Given the description of an element on the screen output the (x, y) to click on. 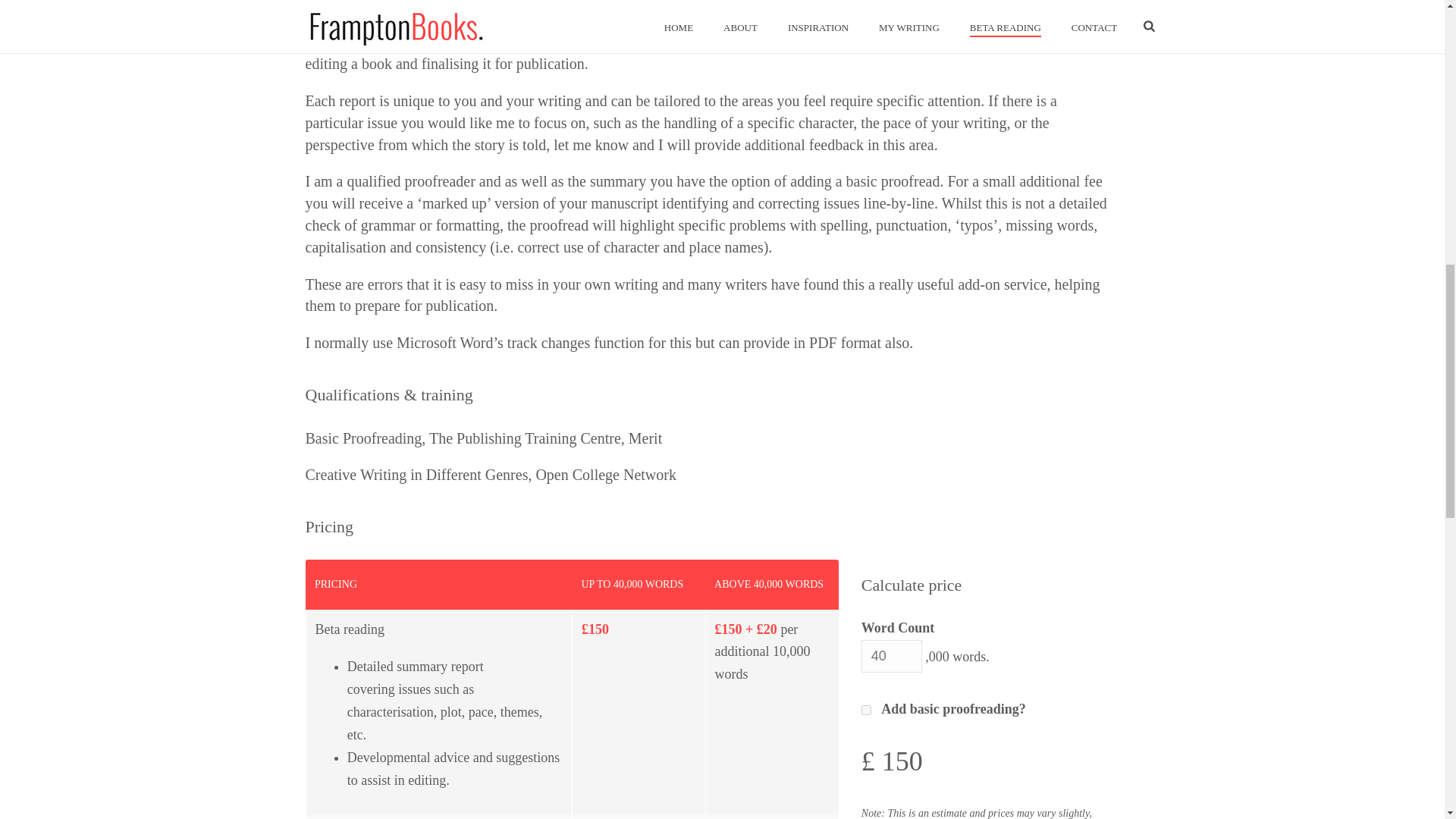
on (865, 709)
40 (891, 655)
